Given the description of an element on the screen output the (x, y) to click on. 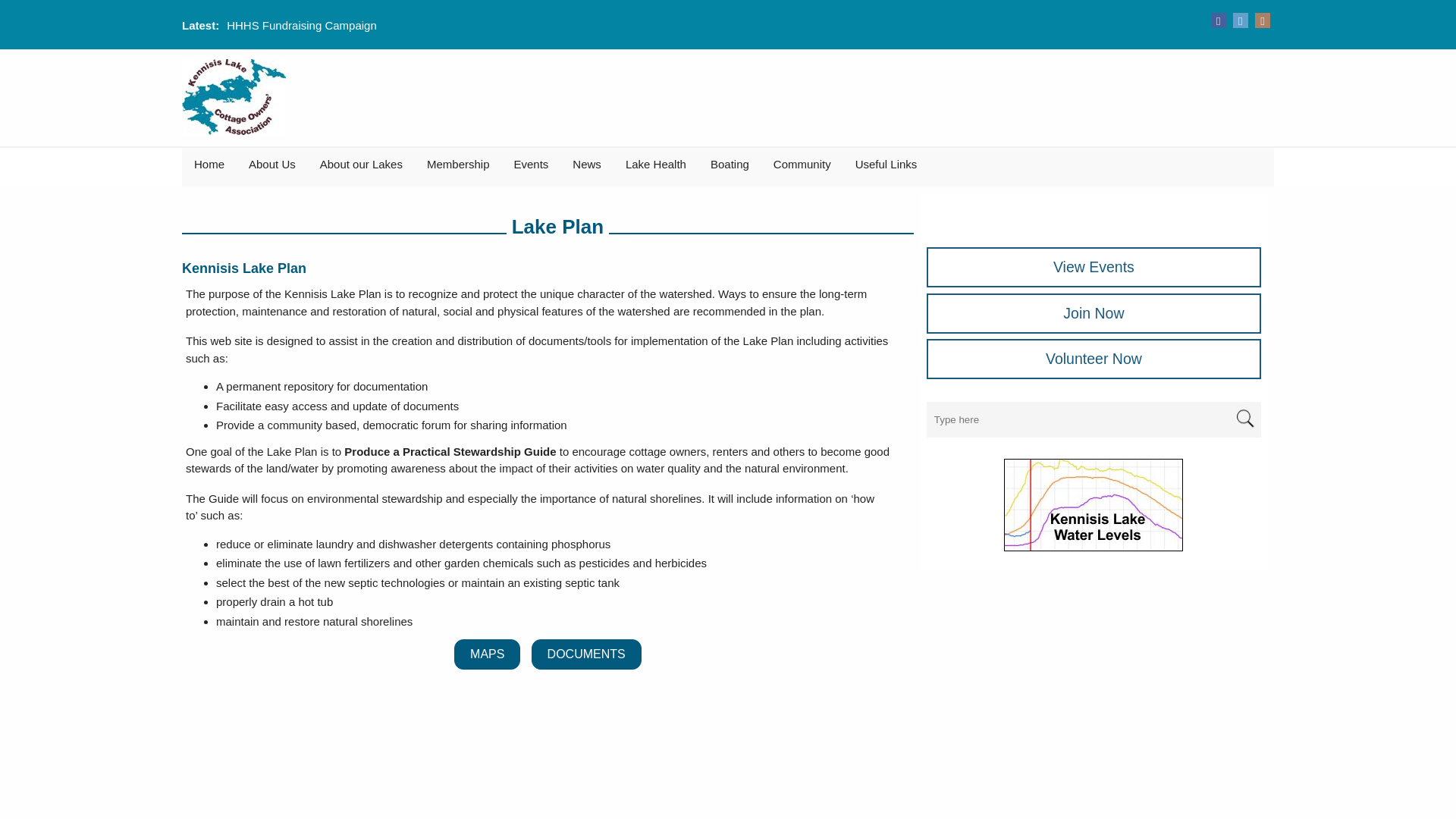
About our Lakes (360, 167)
Home (208, 167)
HHHS Fundraising Campaign (302, 24)
Search (1244, 418)
Kennisis Lake Cottage Owners' Association (233, 96)
About Us (271, 167)
